Given the description of an element on the screen output the (x, y) to click on. 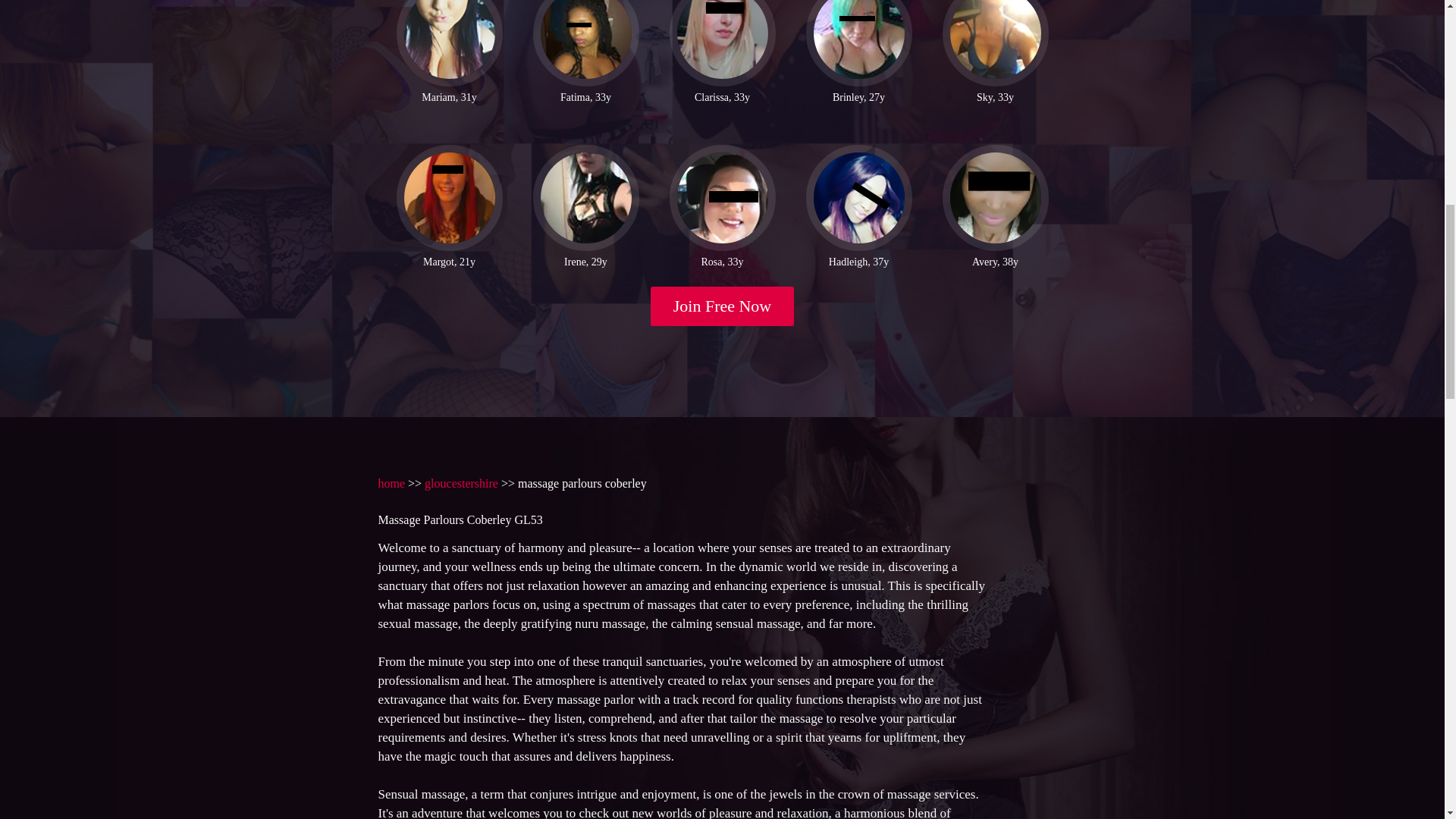
home (390, 482)
gloucestershire (461, 482)
Join Free Now (722, 305)
Join (722, 305)
